Given the description of an element on the screen output the (x, y) to click on. 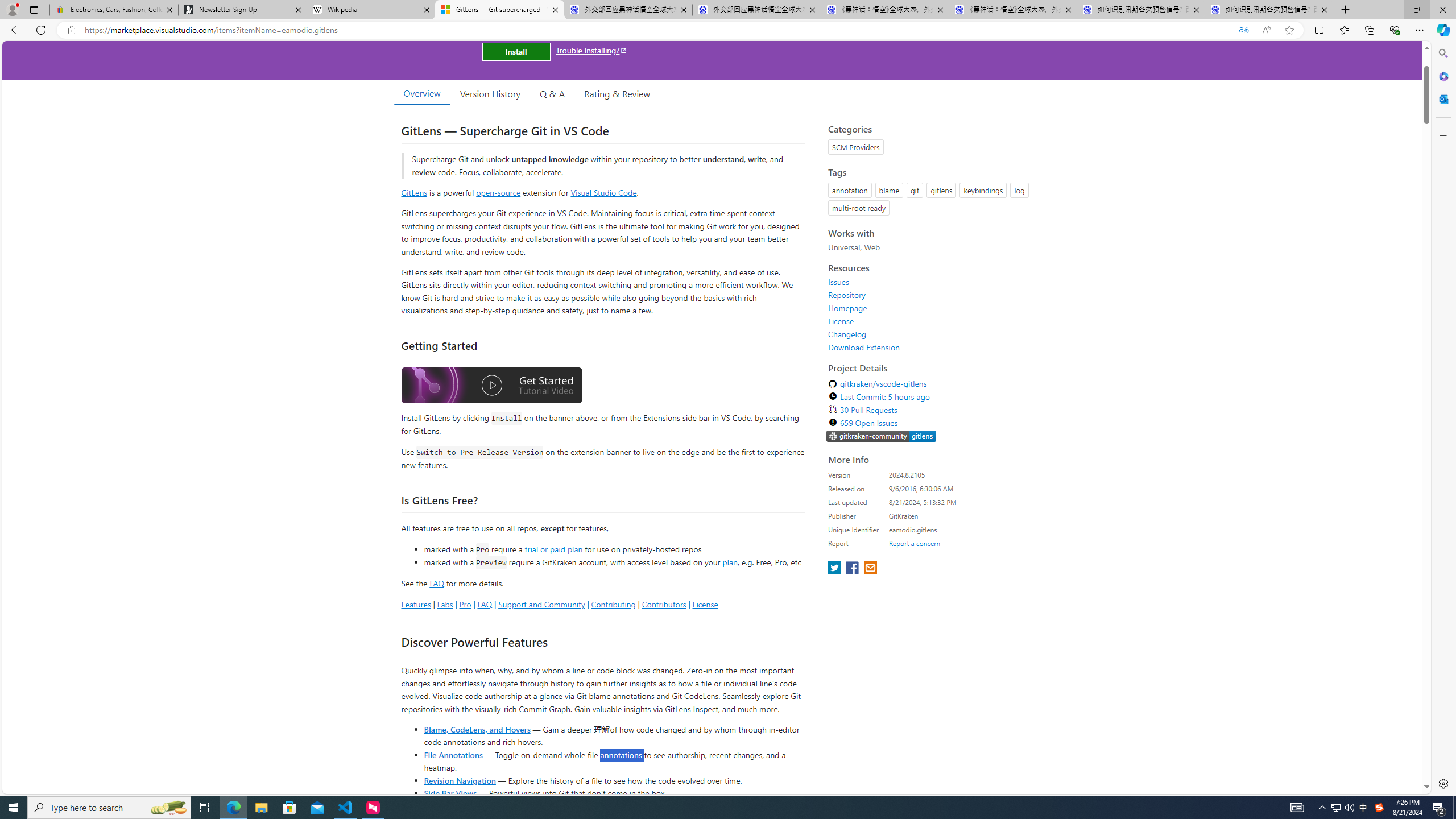
Pro (464, 603)
share extension on twitter (835, 568)
Download Extension (931, 346)
Contributors (663, 603)
Issues (838, 281)
